Given the description of an element on the screen output the (x, y) to click on. 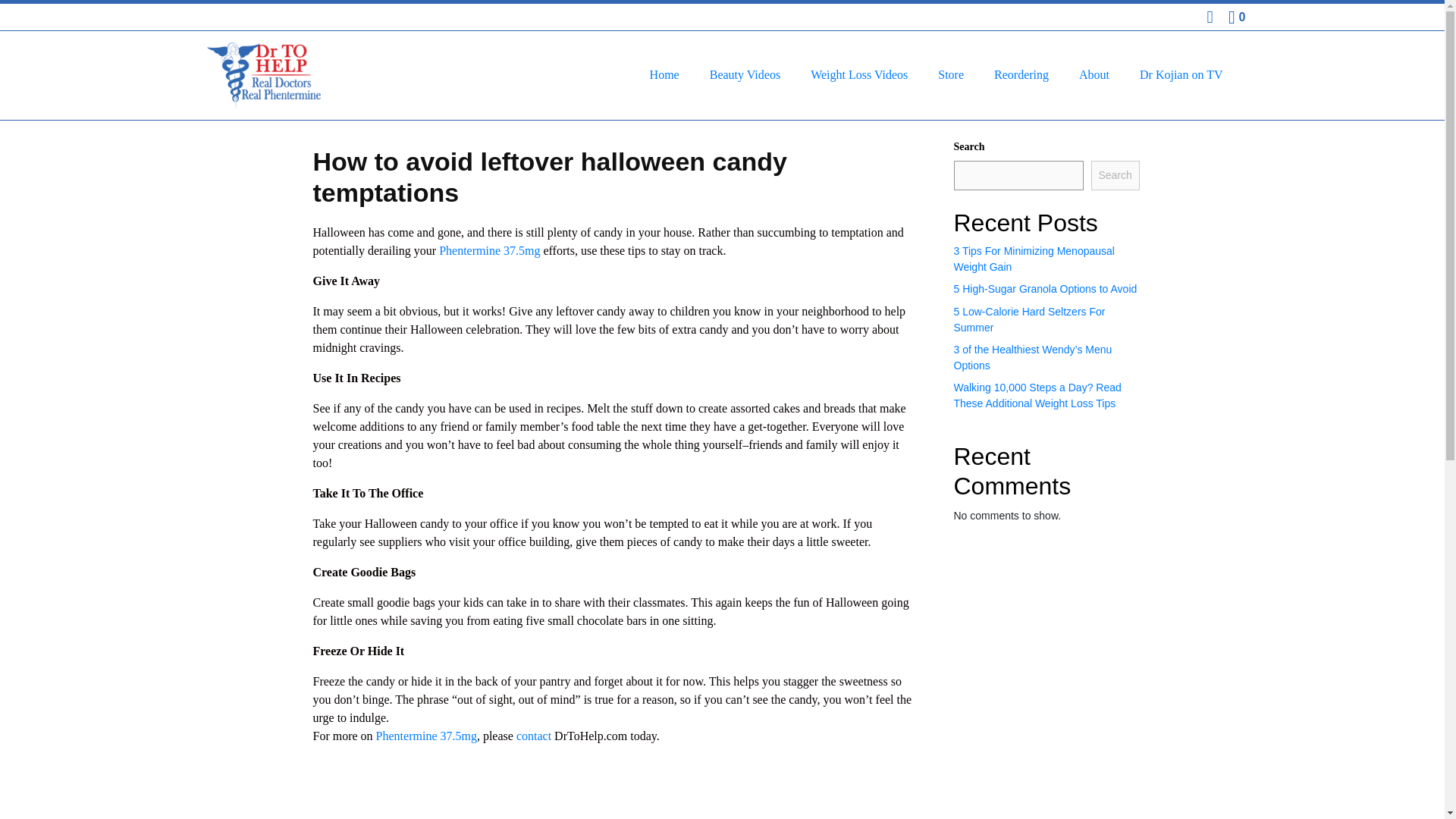
Beauty Videos (744, 74)
Search (1115, 175)
Home (664, 74)
Store (950, 74)
Phentermine 37.5mg (489, 250)
contact (533, 735)
Reordering (1021, 74)
Phentermine 37.5mg (426, 735)
5 High-Sugar Granola Options to Avoid (1045, 288)
